Given the description of an element on the screen output the (x, y) to click on. 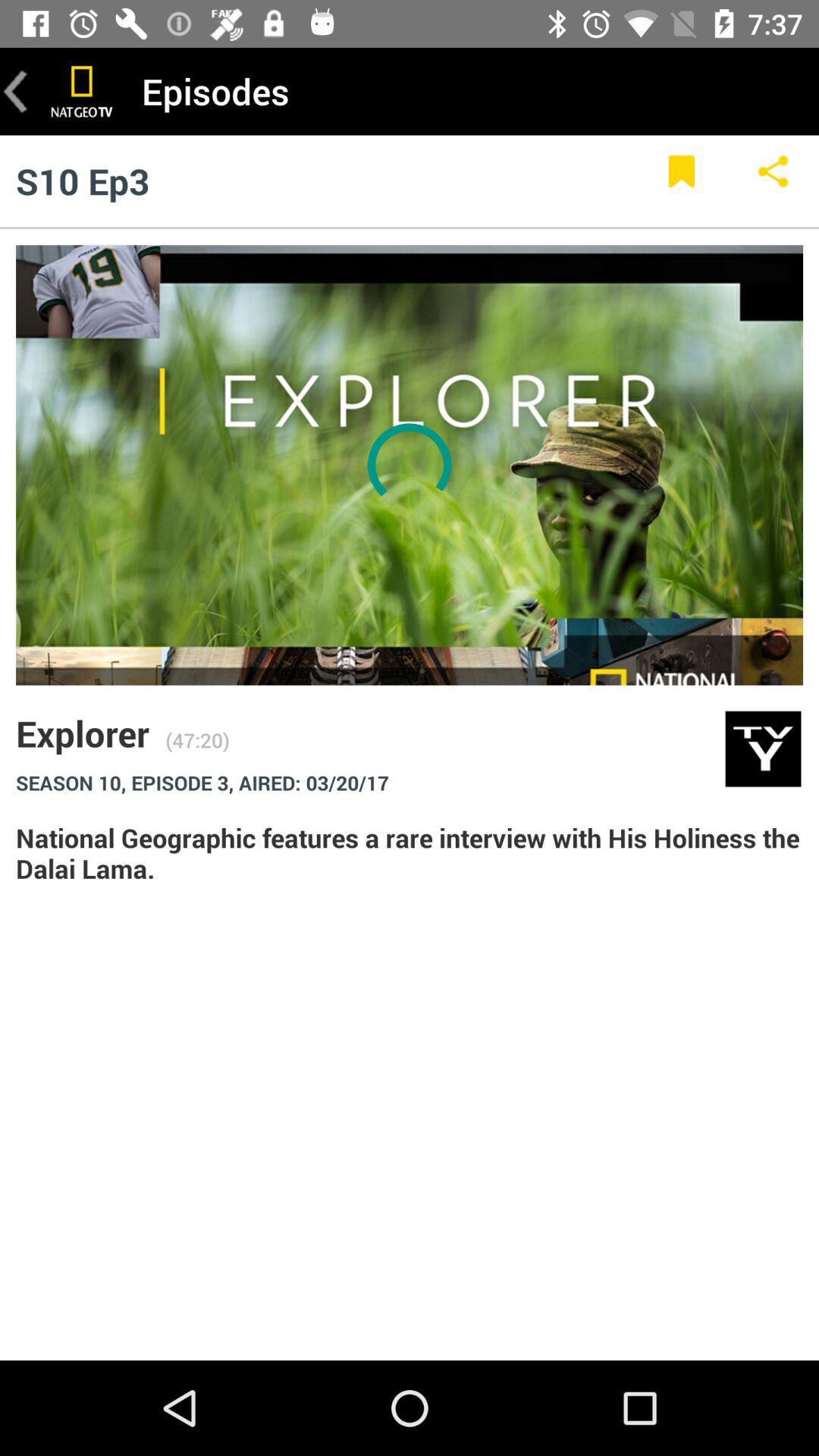
bookmark this (681, 180)
